Given the description of an element on the screen output the (x, y) to click on. 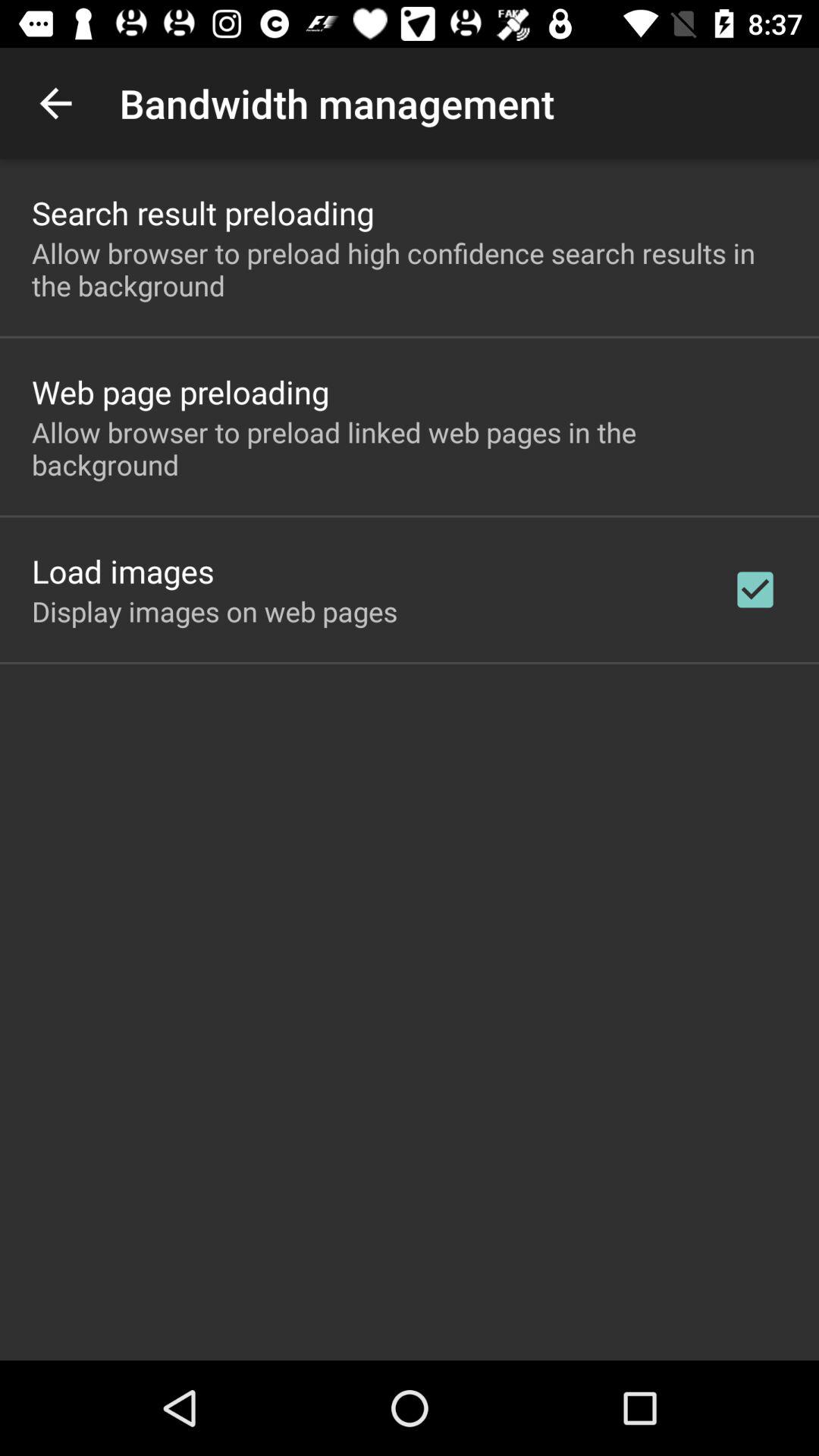
click the search result preloading (202, 212)
